Given the description of an element on the screen output the (x, y) to click on. 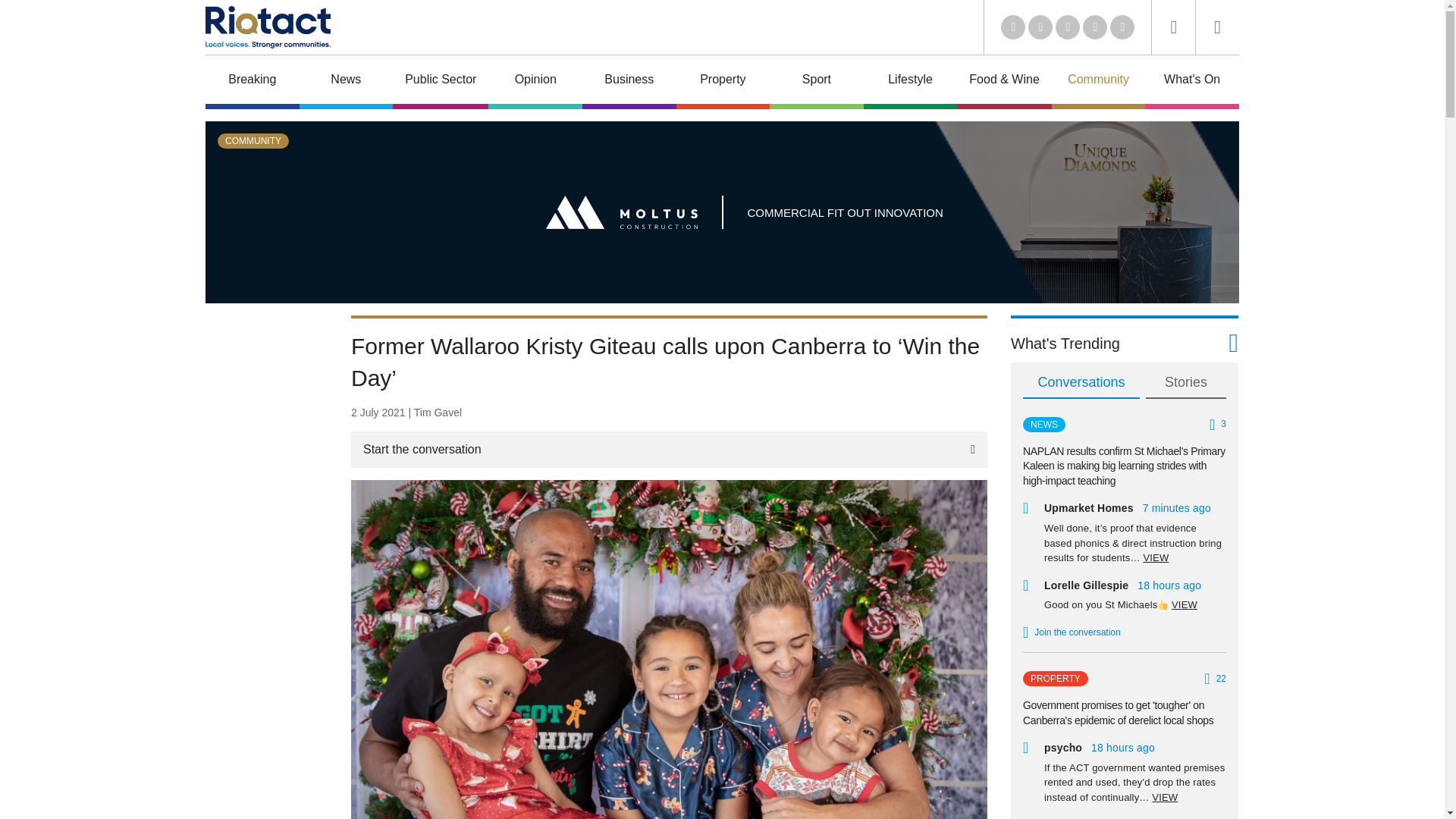
Breaking (252, 81)
News (346, 81)
Riotact Home (267, 26)
Facebook (1094, 27)
LinkedIn (1013, 27)
Twitter (1039, 27)
Instagram (1121, 27)
Youtube (1067, 27)
